Given the description of an element on the screen output the (x, y) to click on. 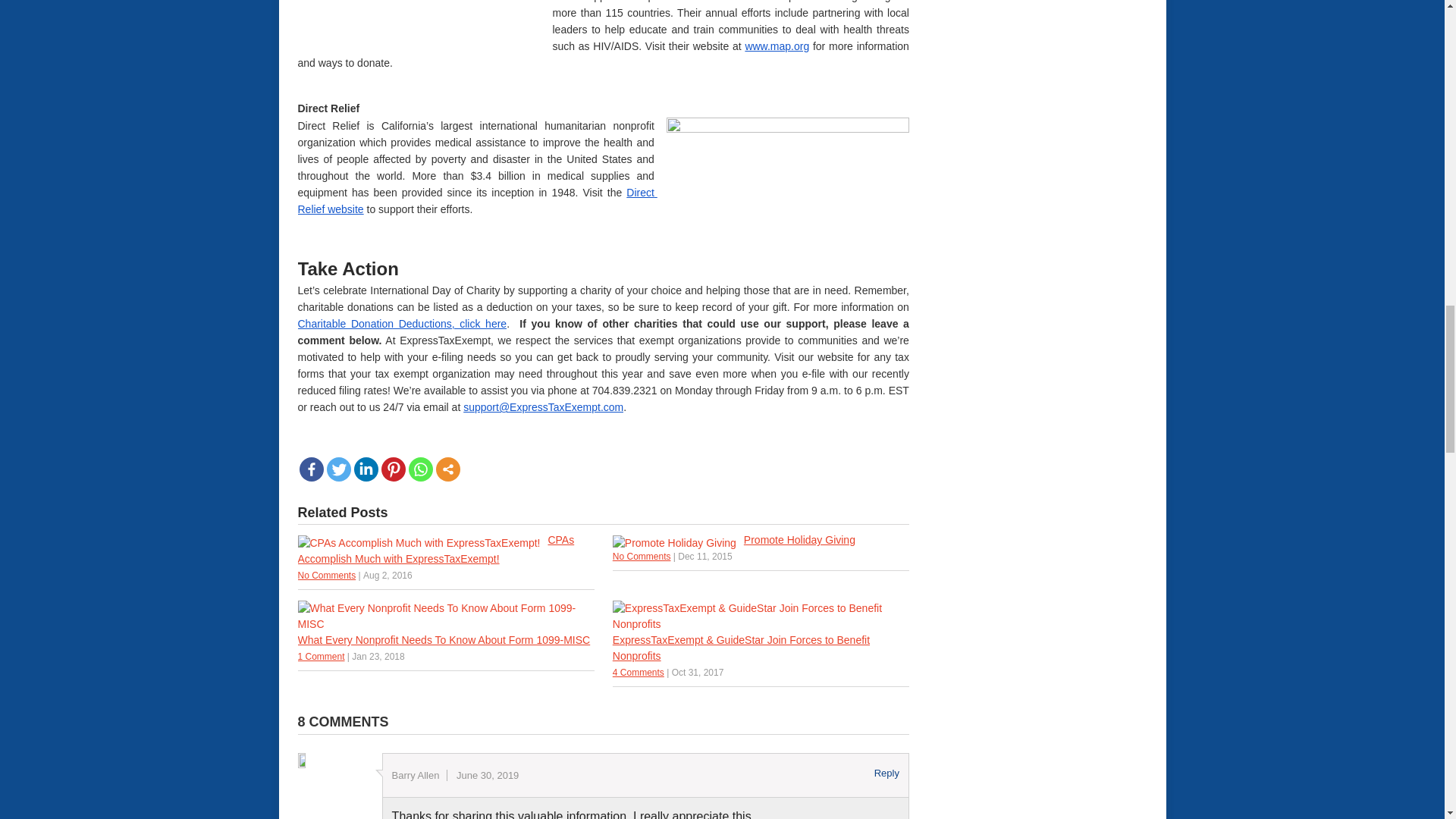
CPAs Accomplish Much with ExpressTaxExempt! (445, 549)
Promote Holiday Giving (760, 539)
Facebook (310, 469)
Linkedin (365, 469)
Whatsapp (419, 469)
More (447, 469)
Pinterest (392, 469)
Twitter (338, 469)
